Given the description of an element on the screen output the (x, y) to click on. 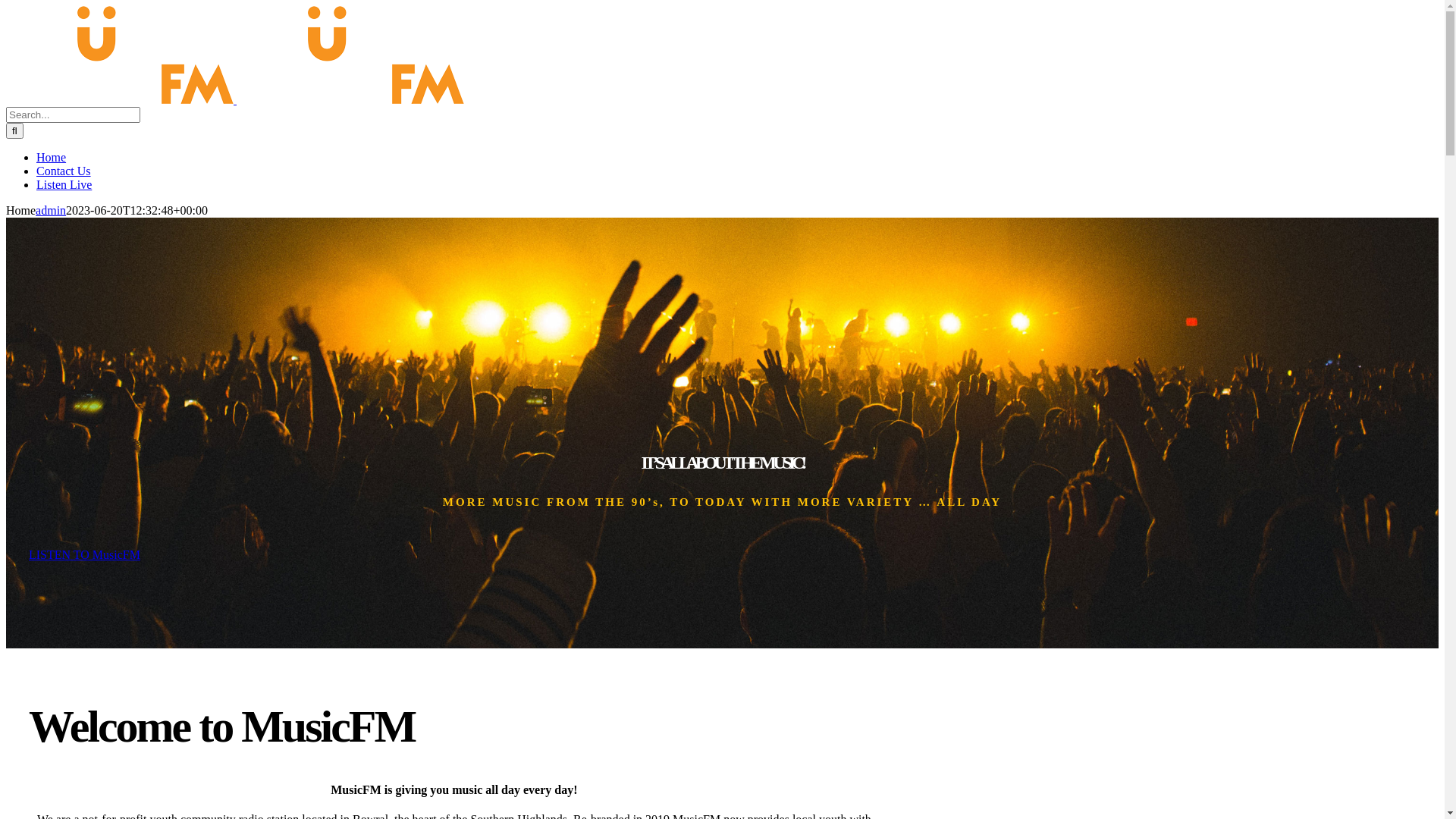
Contact Us Element type: text (63, 170)
Listen Live Element type: text (63, 184)
admin Element type: text (50, 209)
Home Element type: text (50, 156)
Skip to content Element type: text (5, 5)
LISTEN TO MusicFM Element type: text (84, 554)
